Given the description of an element on the screen output the (x, y) to click on. 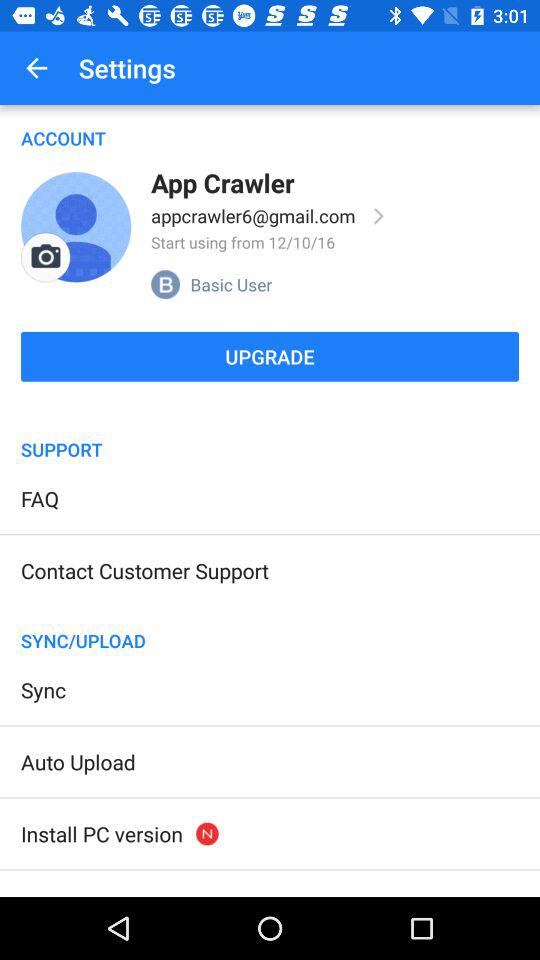
press the item next to settings icon (36, 68)
